Given the description of an element on the screen output the (x, y) to click on. 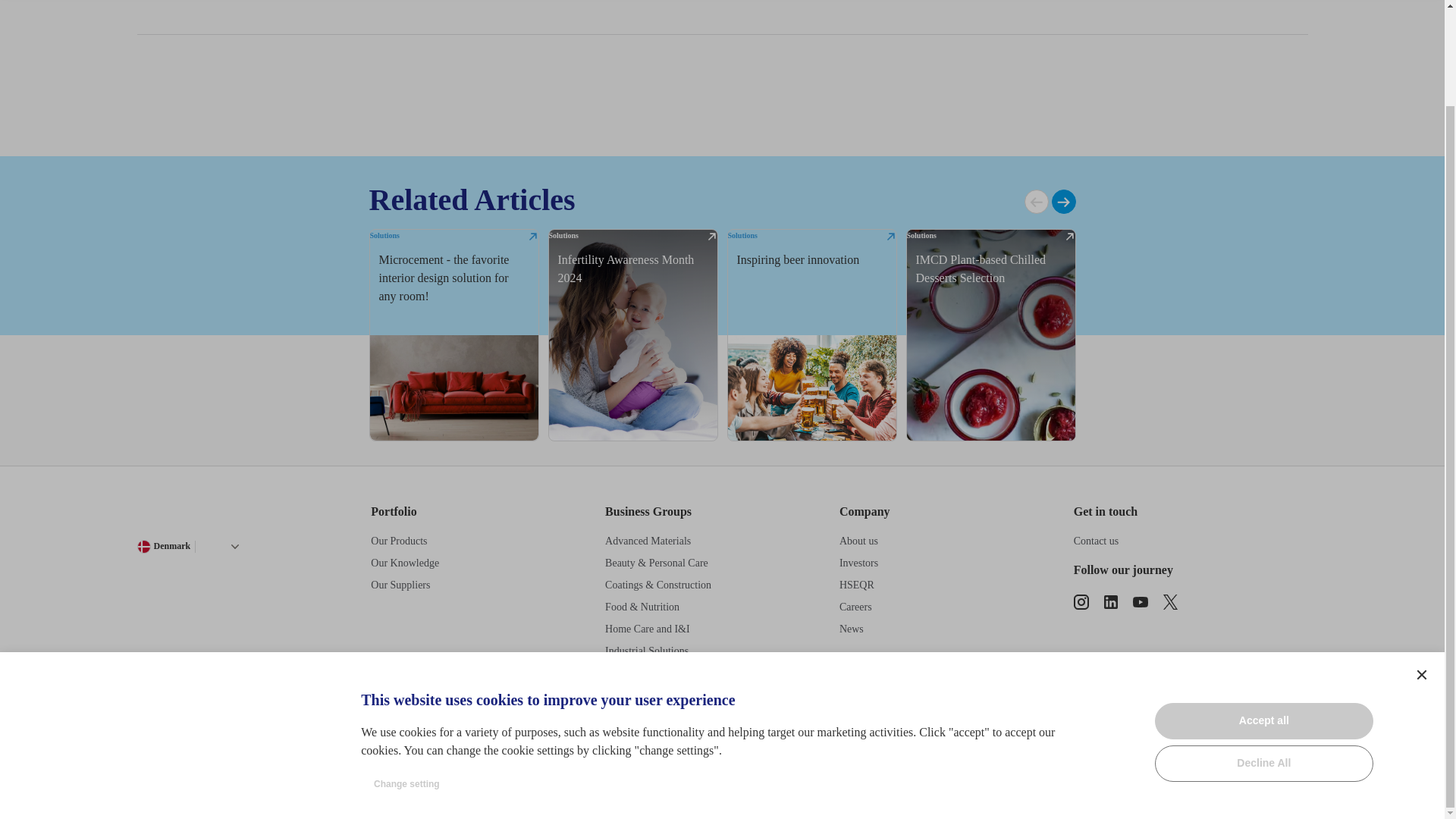
Open Dropdown (235, 546)
Decline All (1263, 652)
Change setting (406, 672)
Settings (1421, 563)
previous (1035, 201)
Accept all (1263, 610)
Our Products (398, 541)
Settings (1421, 563)
Denmark (163, 546)
